Given the description of an element on the screen output the (x, y) to click on. 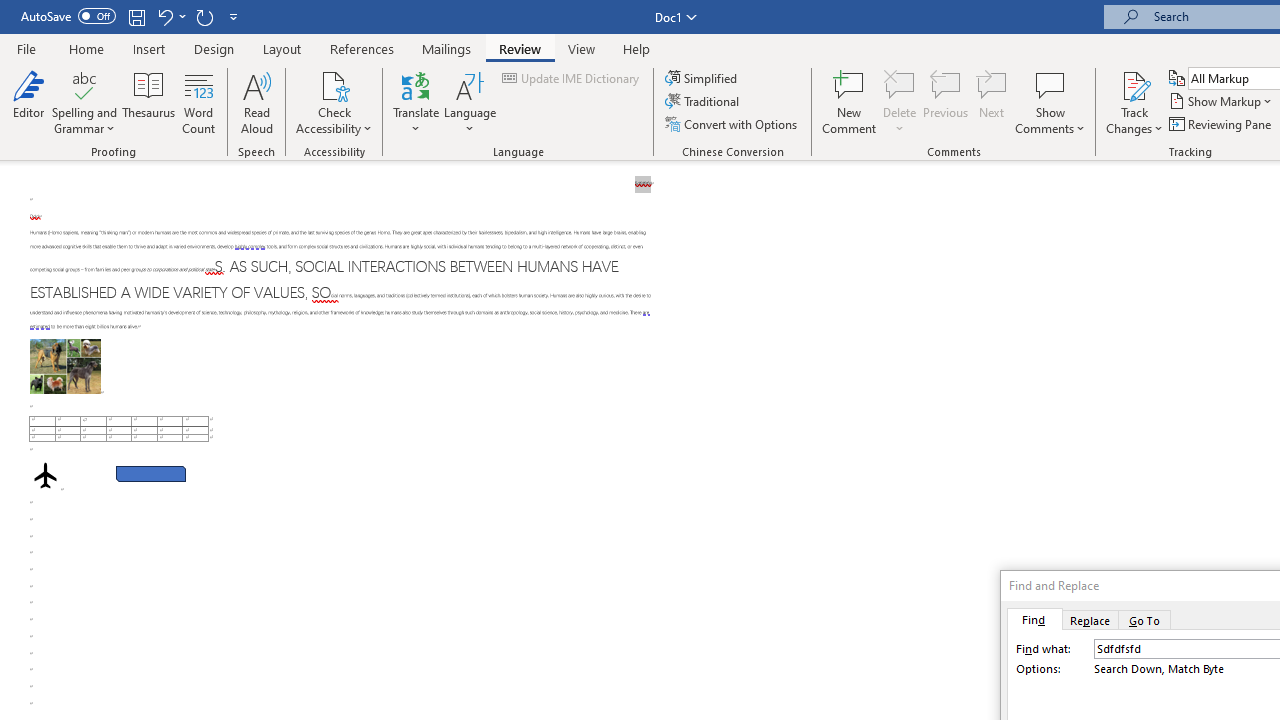
Language (470, 102)
Track Changes (1134, 102)
Undo Paragraph Alignment (164, 15)
Next (991, 102)
Reviewing Pane (1221, 124)
Delete (900, 84)
Spelling and Grammar (84, 84)
Translate (415, 102)
Check Accessibility (334, 102)
